Given the description of an element on the screen output the (x, y) to click on. 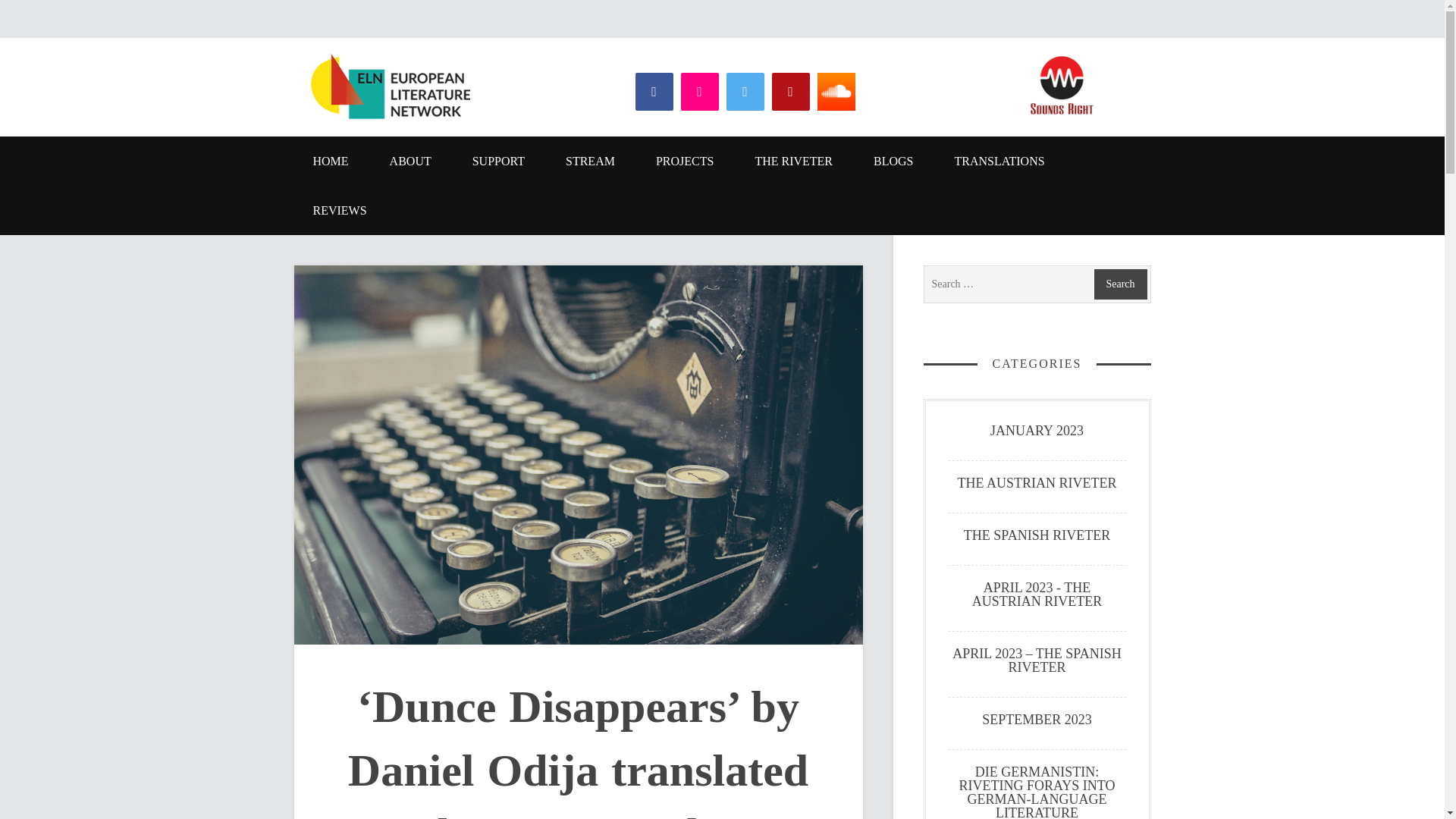
Search (1120, 284)
HOME (331, 160)
SUPPORT (497, 160)
STREAM (590, 160)
ABOUT (410, 160)
Search (1120, 284)
